Given the description of an element on the screen output the (x, y) to click on. 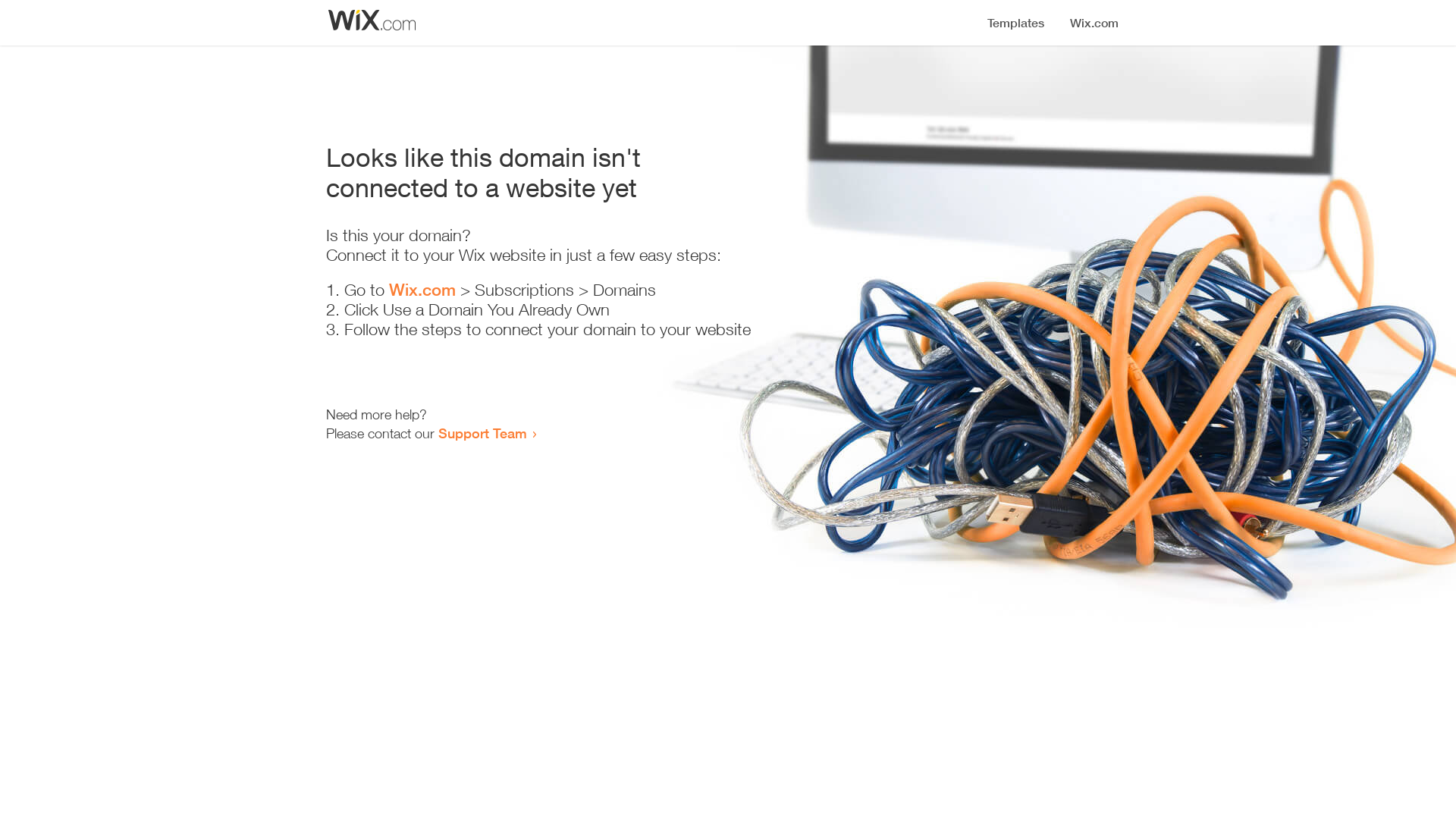
Wix.com Element type: text (422, 289)
Support Team Element type: text (482, 432)
